Given the description of an element on the screen output the (x, y) to click on. 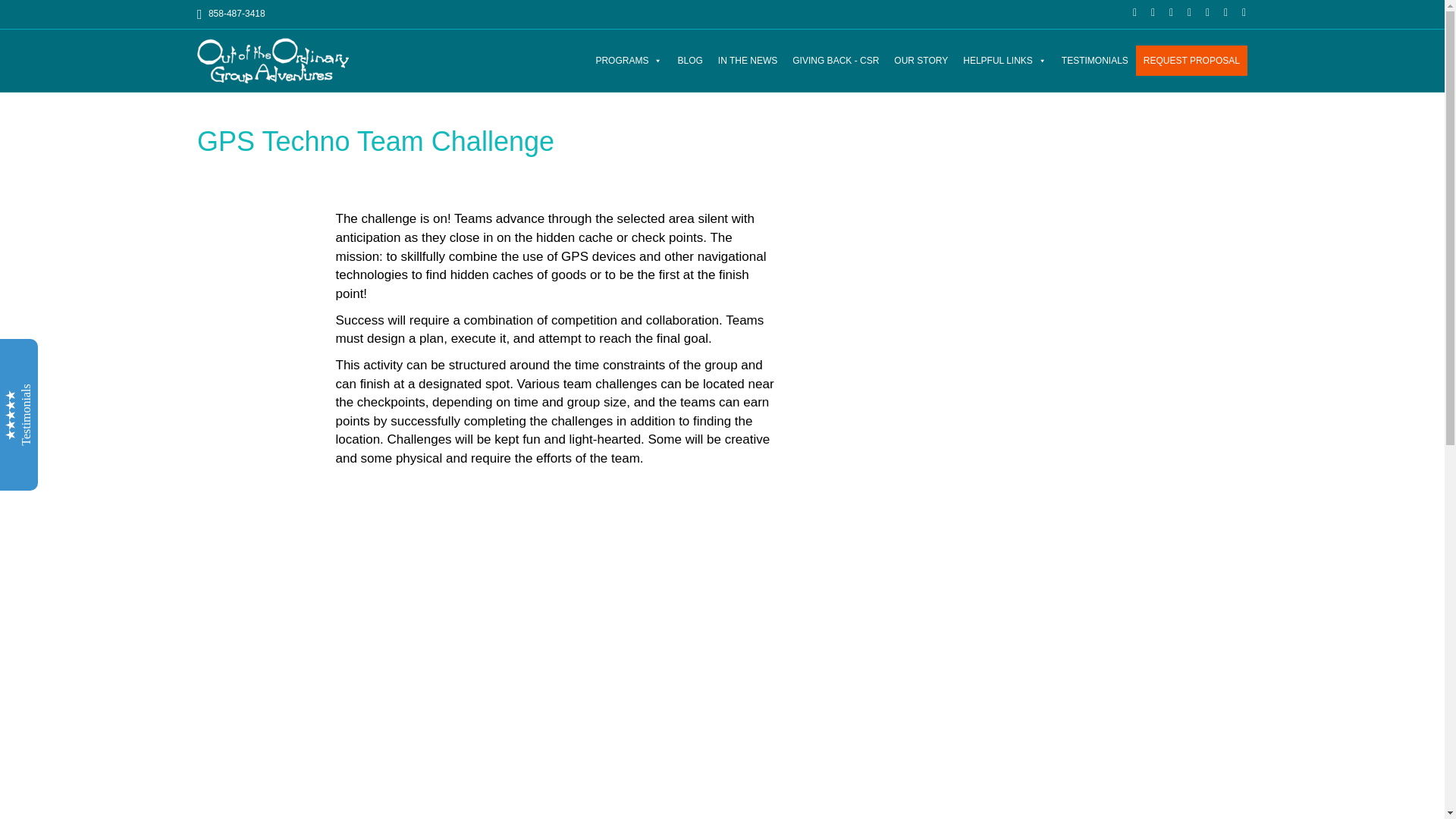
Youtube (1200, 11)
GIVING BACK - CSR (835, 60)
BLOG (689, 60)
Facebook (1127, 11)
Yelp (1182, 11)
858-487-3418 (230, 13)
Instagram (1218, 11)
Twitter (1145, 11)
PROGRAMS (628, 60)
IN THE NEWS (747, 60)
